Given the description of an element on the screen output the (x, y) to click on. 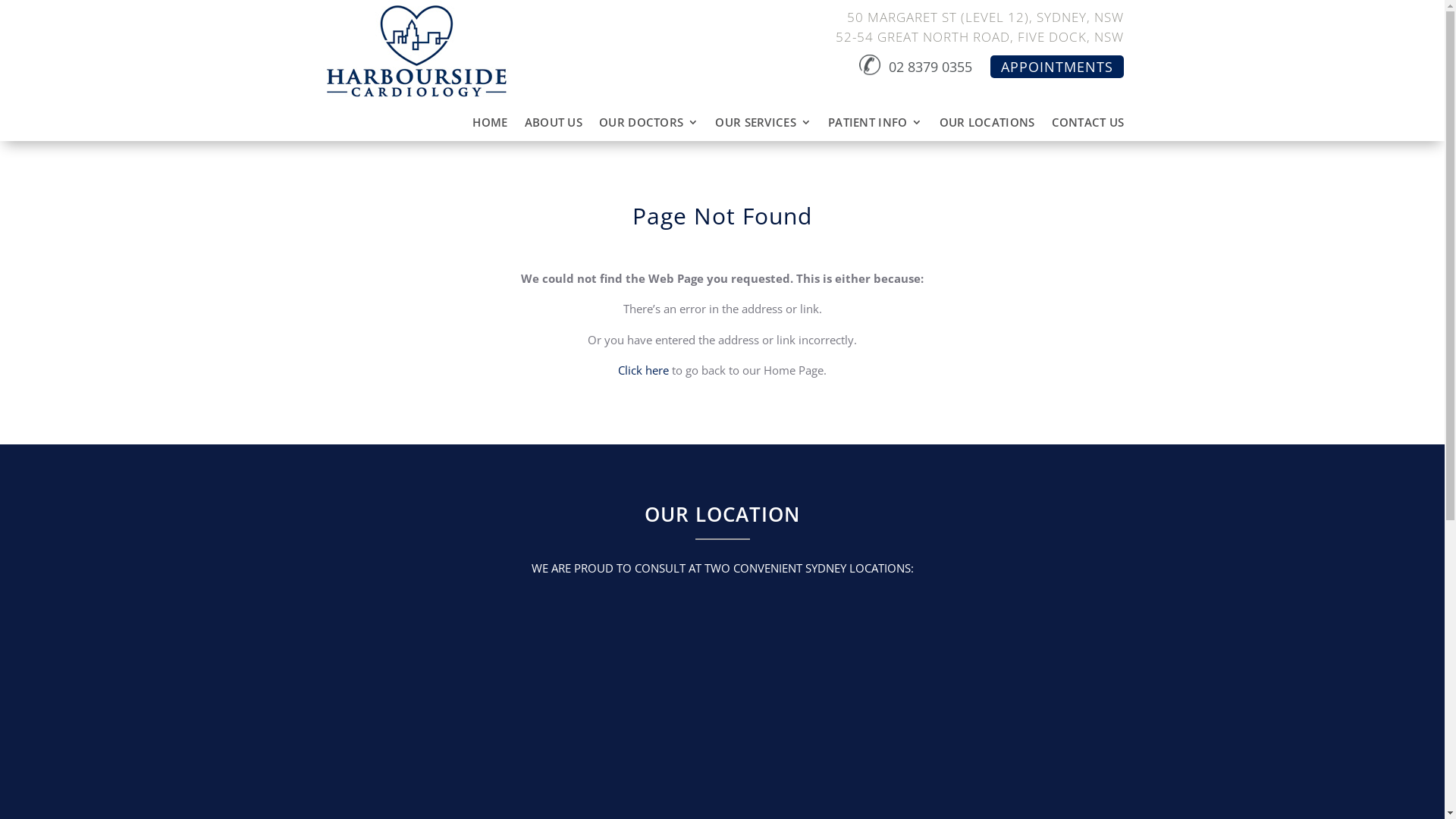
PATIENT INFO Element type: text (875, 124)
CONTACT US Element type: text (1087, 124)
harboursidecardiology-logo Element type: hover (415, 51)
OUR LOCATIONS Element type: text (987, 124)
OUR DOCTORS Element type: text (648, 124)
OUR SERVICES Element type: text (763, 124)
HOME Element type: text (489, 124)
APPOINTMENTS Element type: text (1056, 66)
Click here Element type: text (643, 369)
ABOUT US Element type: text (553, 124)
